Given the description of an element on the screen output the (x, y) to click on. 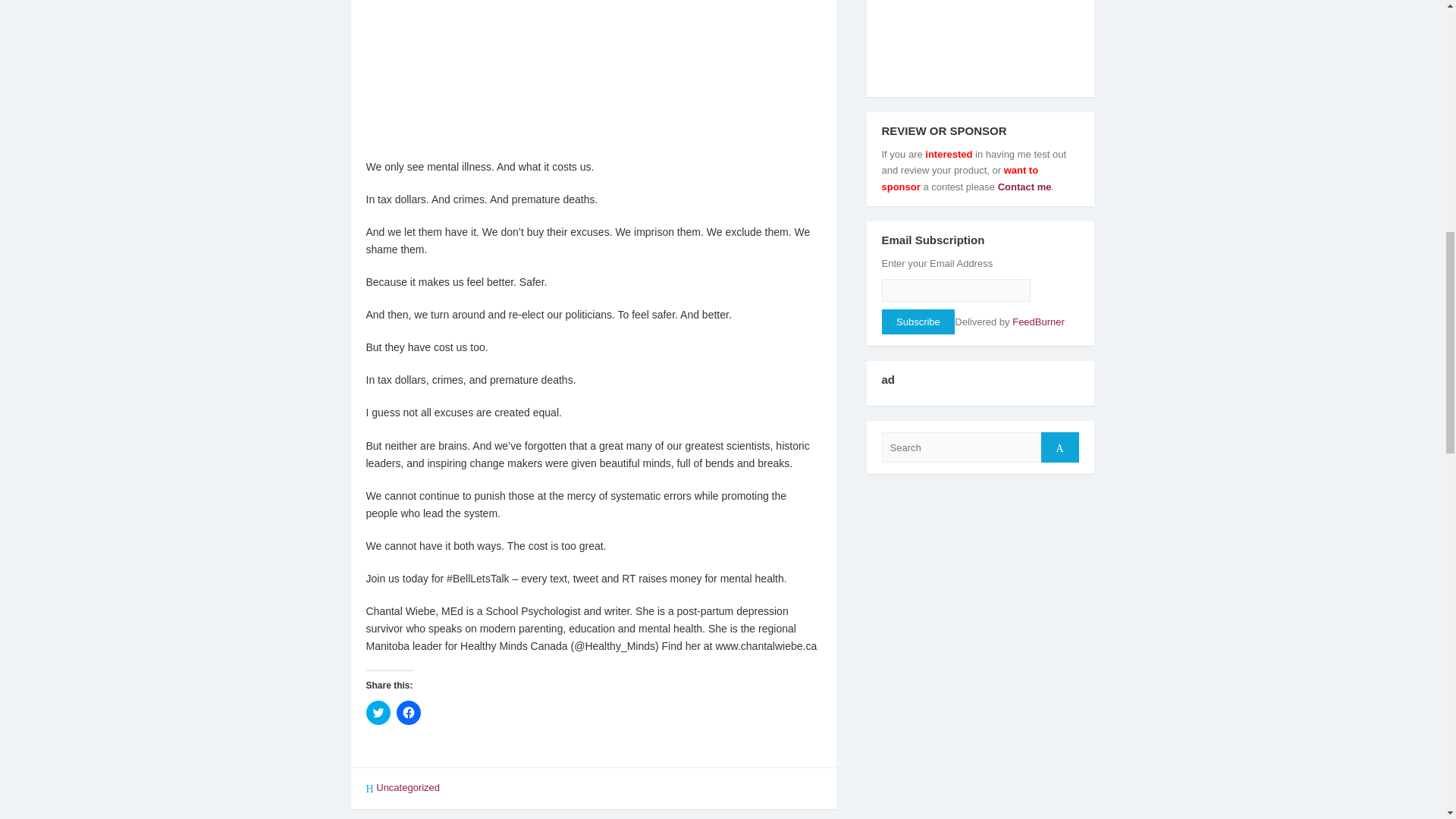
Contact me (1022, 186)
Search (1059, 447)
Advertisement (593, 76)
Click to share on Facebook (408, 712)
Click to share on Twitter (377, 712)
FeedBurner (1037, 321)
Subscribe (917, 321)
Uncategorized (407, 787)
Subscribe (917, 321)
Advertisement (979, 42)
